Given the description of an element on the screen output the (x, y) to click on. 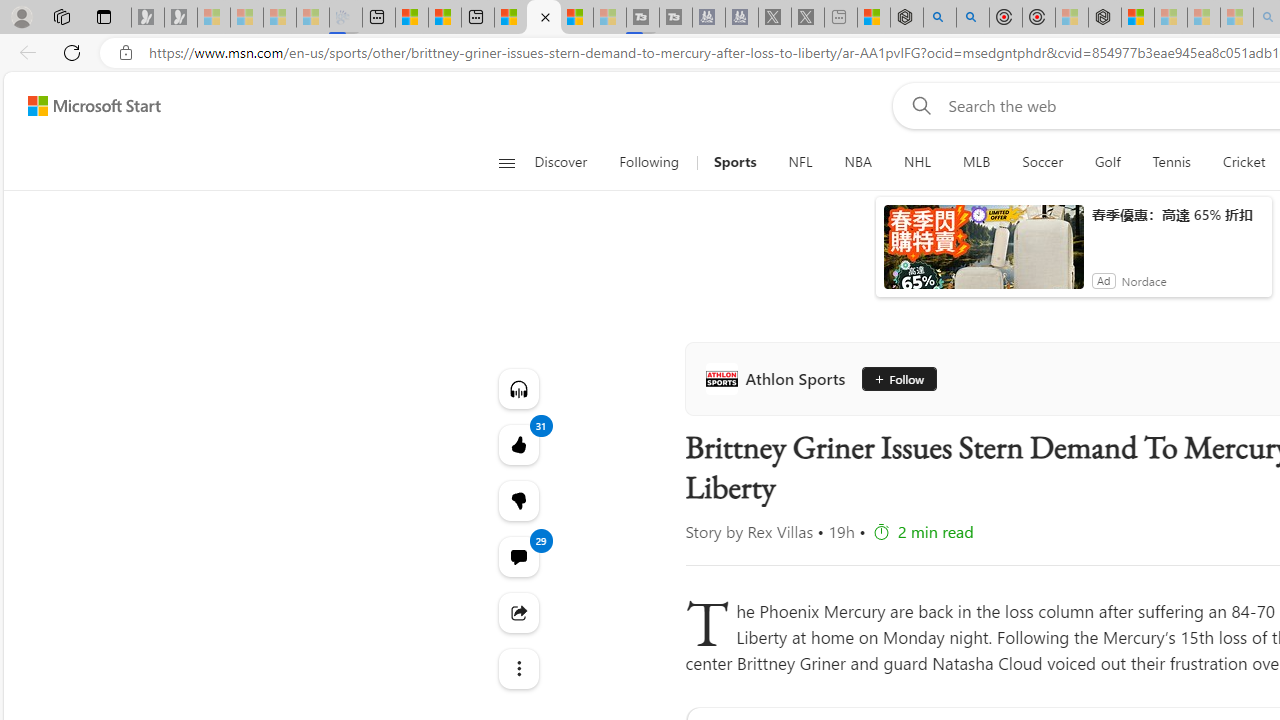
Share this story (517, 612)
Skip to footer (82, 105)
poe - Search (940, 17)
View comments 29 Comment (517, 556)
Microsoft Start (576, 17)
Sports (734, 162)
Cricket (1243, 162)
Web search (917, 105)
Share this story (517, 612)
Skip to content (86, 105)
X - Sleeping (808, 17)
